Given the description of an element on the screen output the (x, y) to click on. 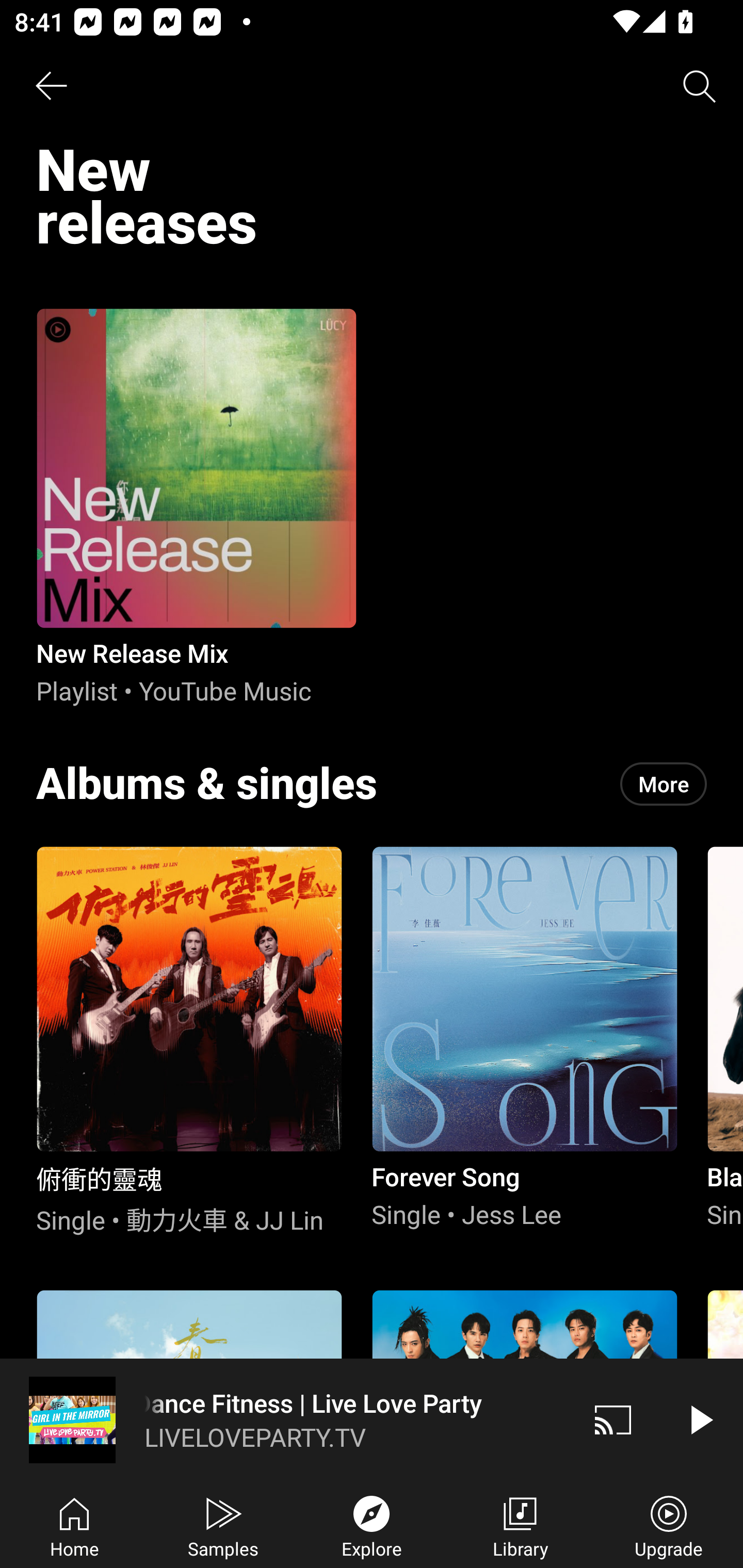
Back (50, 86)
Search (699, 86)
Albums & singles Albums & singles More More (371, 783)
More (663, 783)
Cast. Disconnected (612, 1419)
Play video (699, 1419)
Home (74, 1524)
Samples (222, 1524)
Library (519, 1524)
Upgrade (668, 1524)
